Given the description of an element on the screen output the (x, y) to click on. 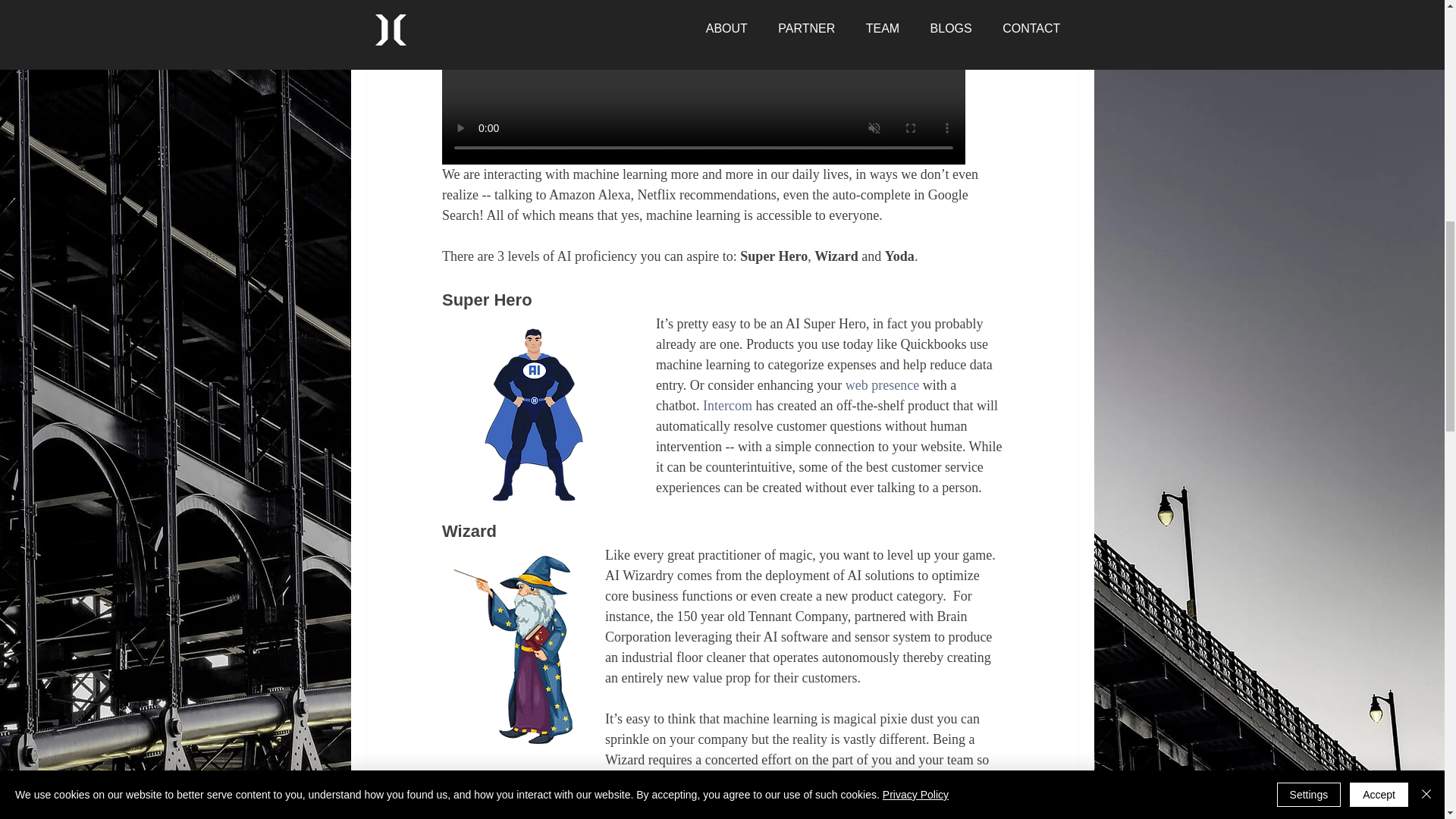
web presence (881, 385)
Intercom (726, 405)
